Given the description of an element on the screen output the (x, y) to click on. 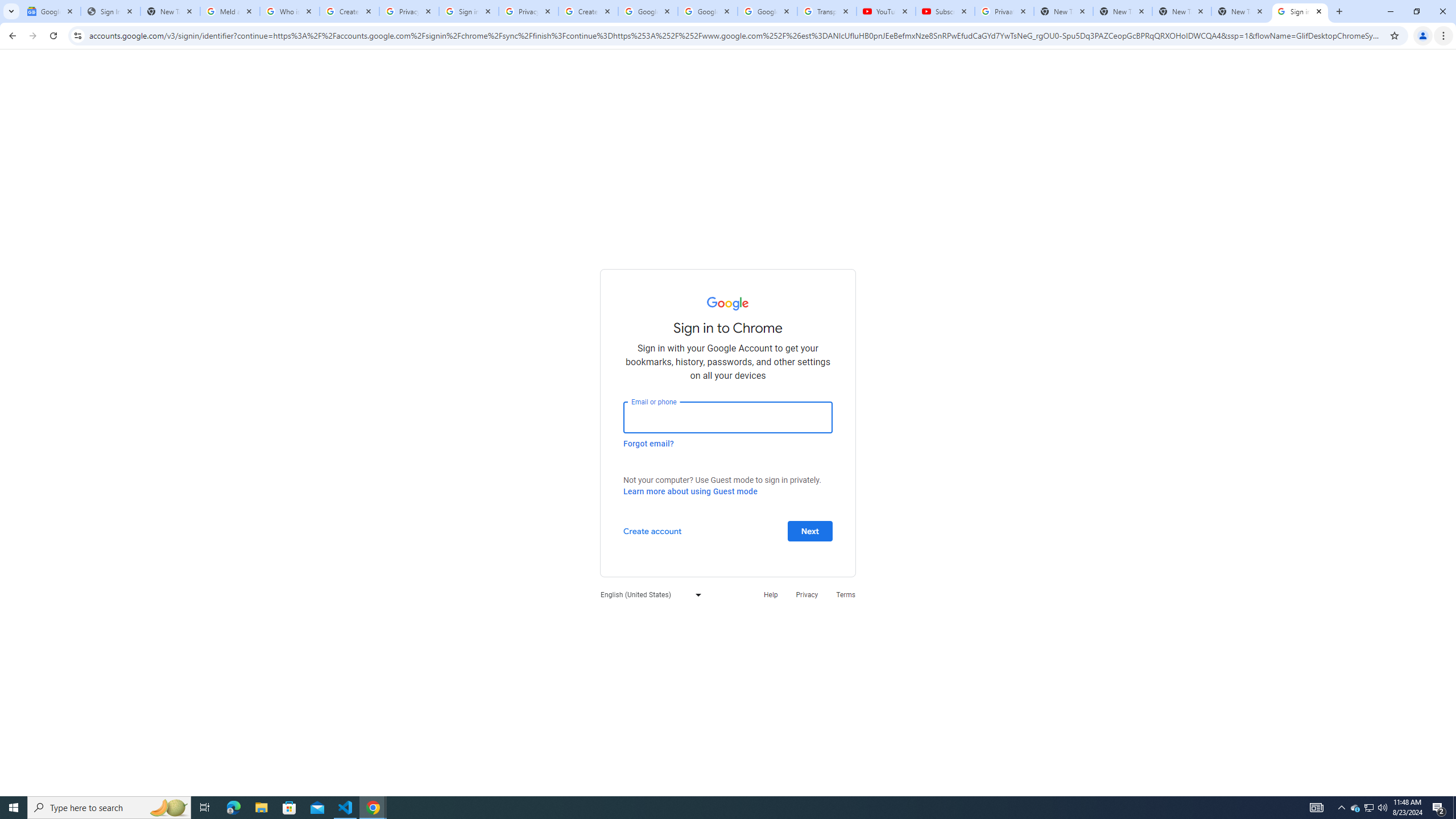
Create your Google Account (349, 11)
English (United States) (647, 594)
Create your Google Account (588, 11)
Forgot email? (648, 443)
Next (809, 530)
Google Account (767, 11)
